Given the description of an element on the screen output the (x, y) to click on. 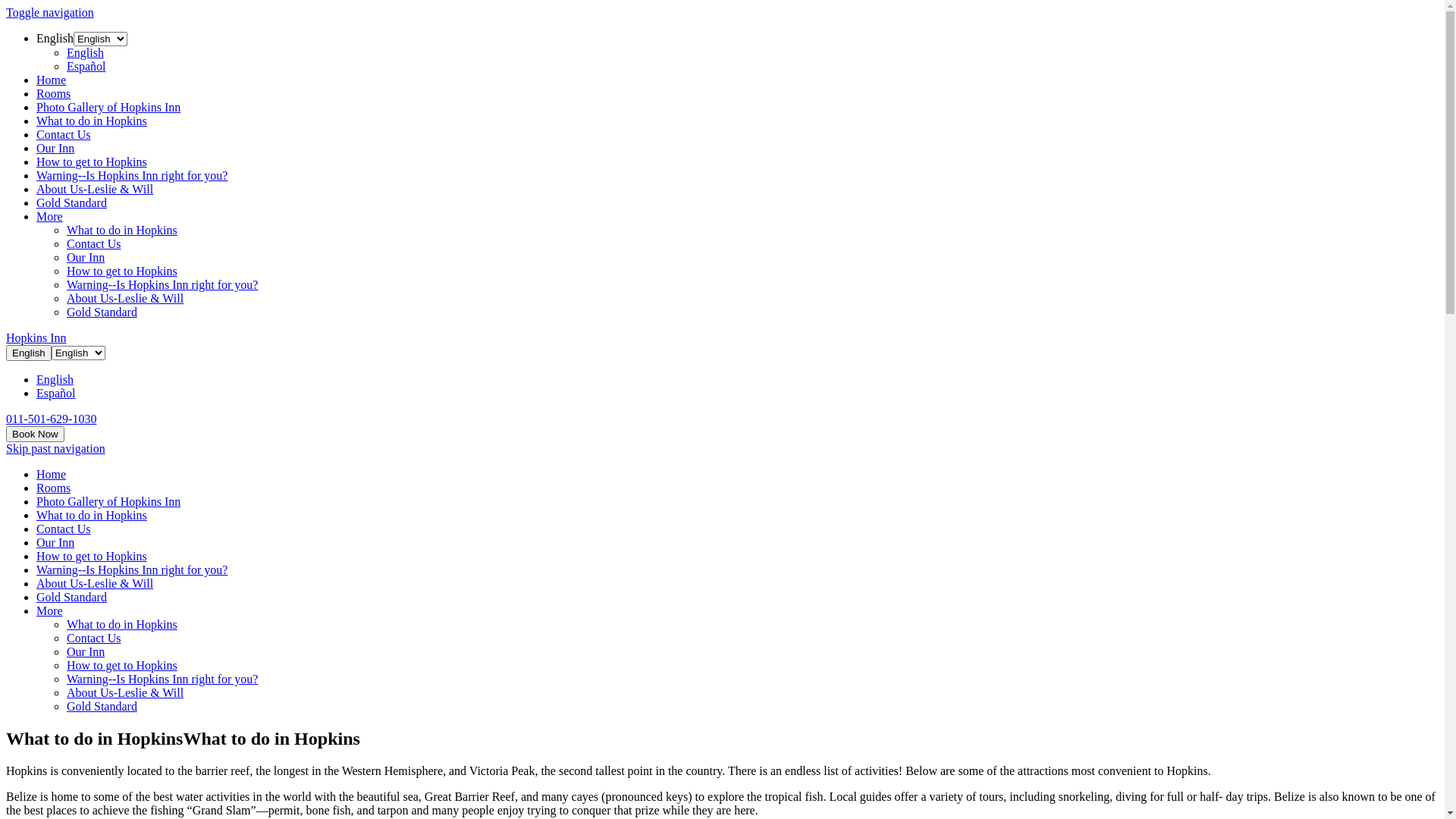
Hopkins Inn Element type: text (36, 337)
Contact Us Element type: text (93, 243)
More Element type: text (49, 216)
About Us-Leslie & Will Element type: text (124, 692)
Photo Gallery of Hopkins Inn Element type: text (108, 106)
About Us-Leslie & Will Element type: text (94, 188)
Toggle navigation Element type: text (50, 12)
English Element type: text (28, 352)
Our Inn Element type: text (85, 651)
How to get to Hopkins Element type: text (121, 664)
Warning--Is Hopkins Inn right for you? Element type: text (161, 678)
What to do in Hopkins Element type: text (91, 514)
Book Now Element type: text (35, 434)
Home Element type: text (50, 473)
Our Inn Element type: text (85, 257)
Home Element type: text (50, 79)
Gold Standard Element type: text (71, 596)
Skip past navigation Element type: text (55, 448)
011-501-629-1030 Element type: text (51, 418)
Contact Us Element type: text (93, 637)
Our Inn Element type: text (55, 542)
Gold Standard Element type: text (101, 311)
About Us-Leslie & Will Element type: text (124, 297)
Photo Gallery of Hopkins Inn Element type: text (108, 501)
What to do in Hopkins Element type: text (121, 624)
What to do in Hopkins Element type: text (121, 229)
Rooms Element type: text (53, 93)
How to get to Hopkins Element type: text (91, 555)
English Element type: text (54, 37)
What to do in Hopkins Element type: text (91, 120)
About Us-Leslie & Will Element type: text (94, 583)
Gold Standard Element type: text (101, 705)
English Element type: text (54, 379)
Warning--Is Hopkins Inn right for you? Element type: text (131, 569)
Rooms Element type: text (53, 487)
More Element type: text (49, 610)
Contact Us Element type: text (63, 134)
How to get to Hopkins Element type: text (121, 270)
Contact Us Element type: text (63, 528)
Warning--Is Hopkins Inn right for you? Element type: text (161, 284)
Our Inn Element type: text (55, 147)
Warning--Is Hopkins Inn right for you? Element type: text (131, 175)
English Element type: text (84, 52)
How to get to Hopkins Element type: text (91, 161)
Gold Standard Element type: text (71, 202)
